Given the description of an element on the screen output the (x, y) to click on. 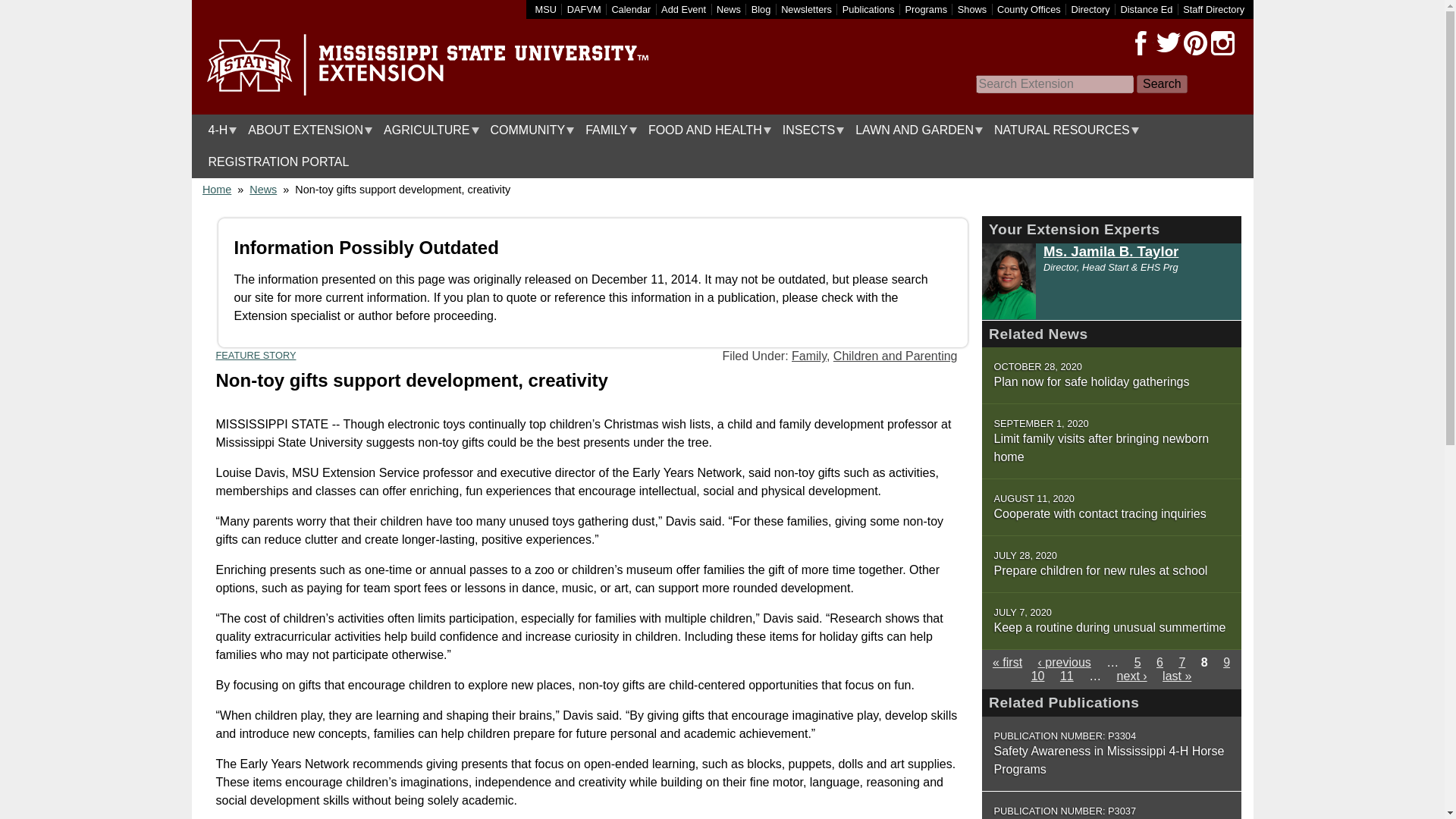
County Offices (1029, 9)
Link to Mississippi State University (545, 9)
Directory of employees of the MSU Extension Service (1213, 9)
Publications (869, 9)
Directory (1089, 9)
Shows (972, 9)
Blog (761, 9)
